Given the description of an element on the screen output the (x, y) to click on. 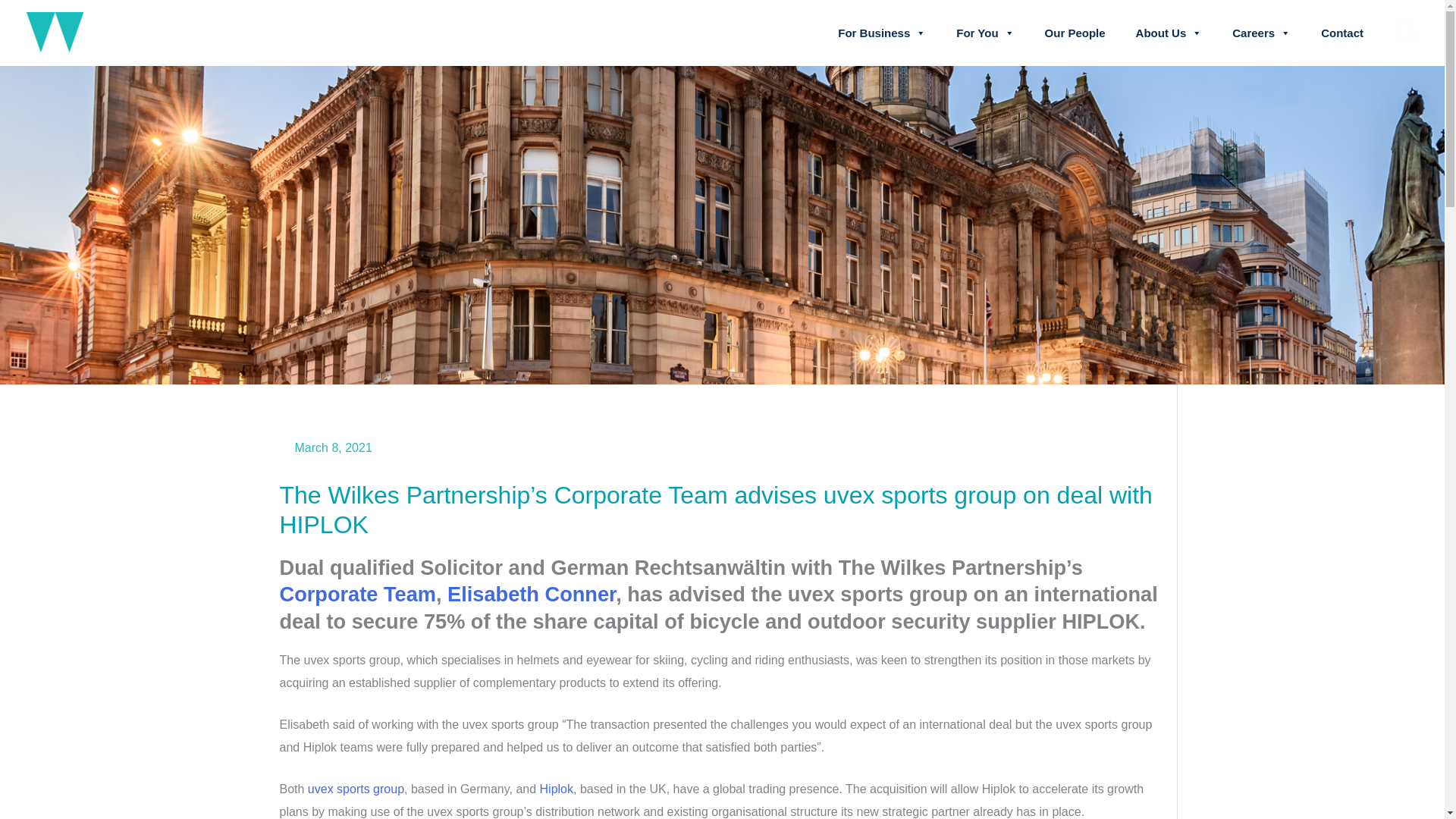
For You (984, 33)
For Business (881, 33)
Our People (1075, 33)
